Given the description of an element on the screen output the (x, y) to click on. 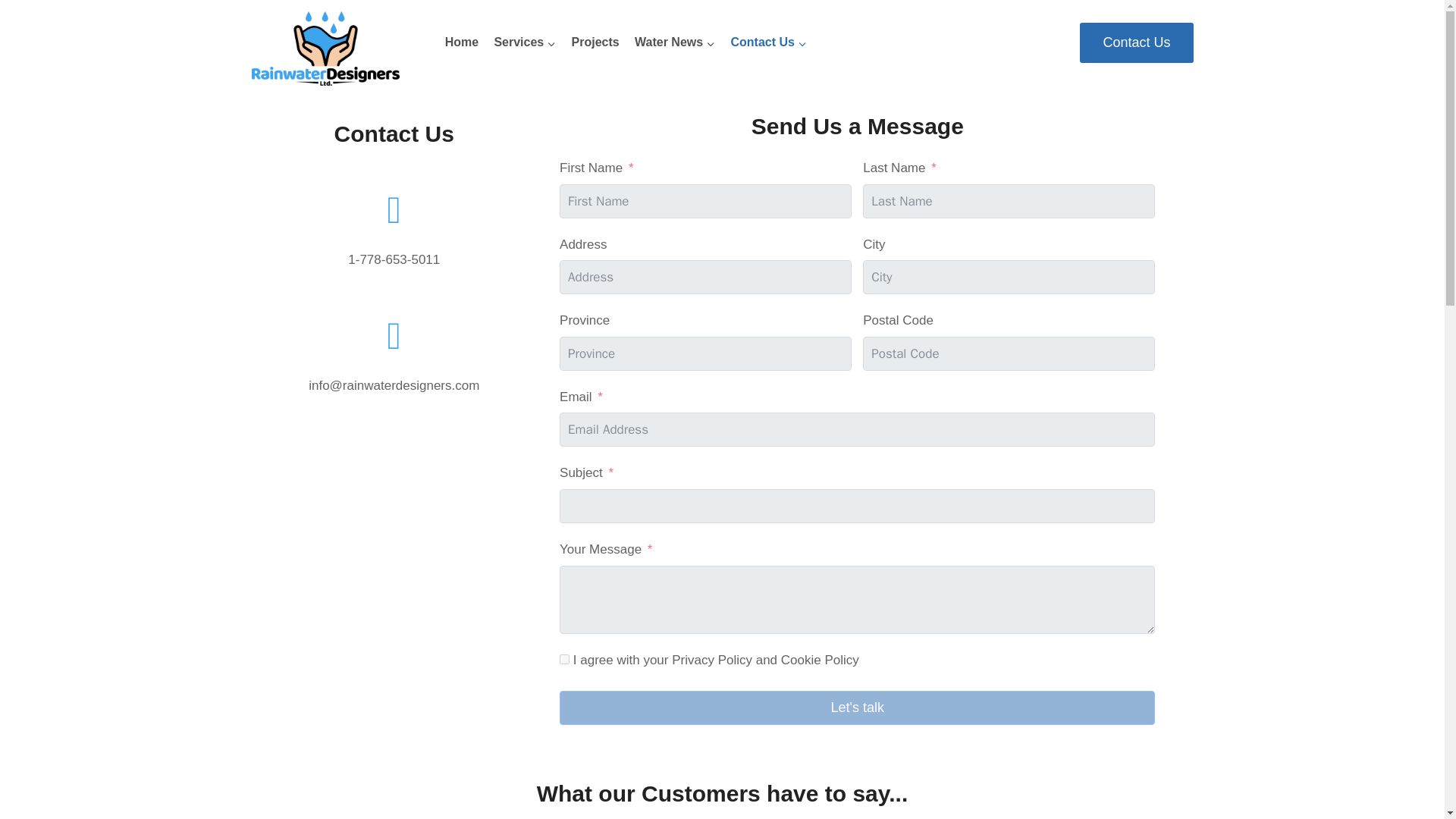
Home (461, 42)
Let's talk (856, 707)
Contact Us (767, 42)
I agree with your  Privacy Policy and Cookie Policy (564, 659)
Services (524, 42)
Water News (674, 42)
Contact Us (1136, 42)
1-778-653-5011 (393, 259)
Projects (594, 42)
